Given the description of an element on the screen output the (x, y) to click on. 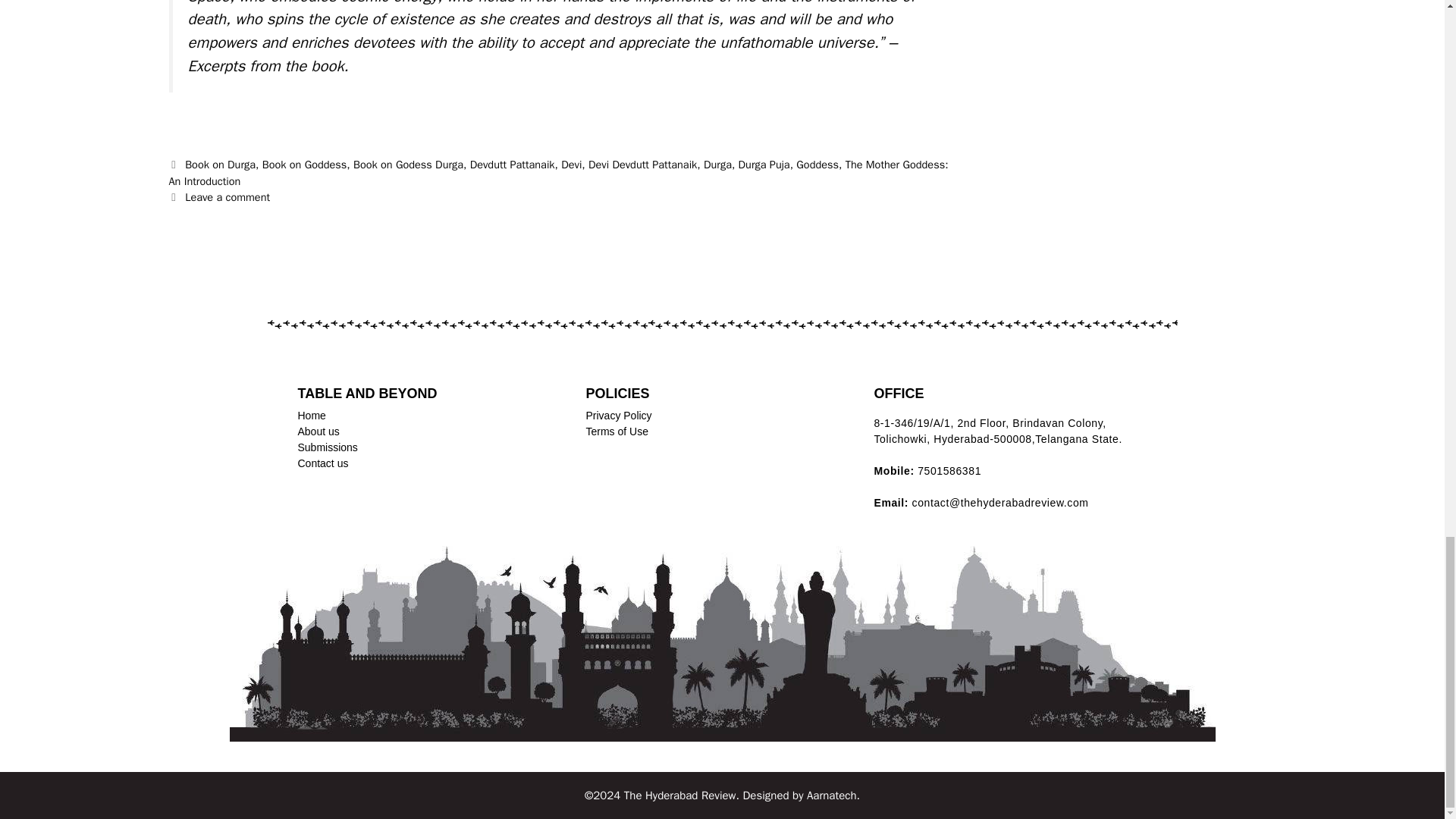
Book on Durga (220, 164)
Devdutt Pattanaik (512, 164)
Book on Godess Durga (408, 164)
Devi (570, 164)
Devi Devdutt Pattanaik (642, 164)
Goddess (817, 164)
The Mother Goddess: An Introduction (557, 173)
Book on Goddess (304, 164)
Leave a comment (226, 196)
Durga (717, 164)
